Given the description of an element on the screen output the (x, y) to click on. 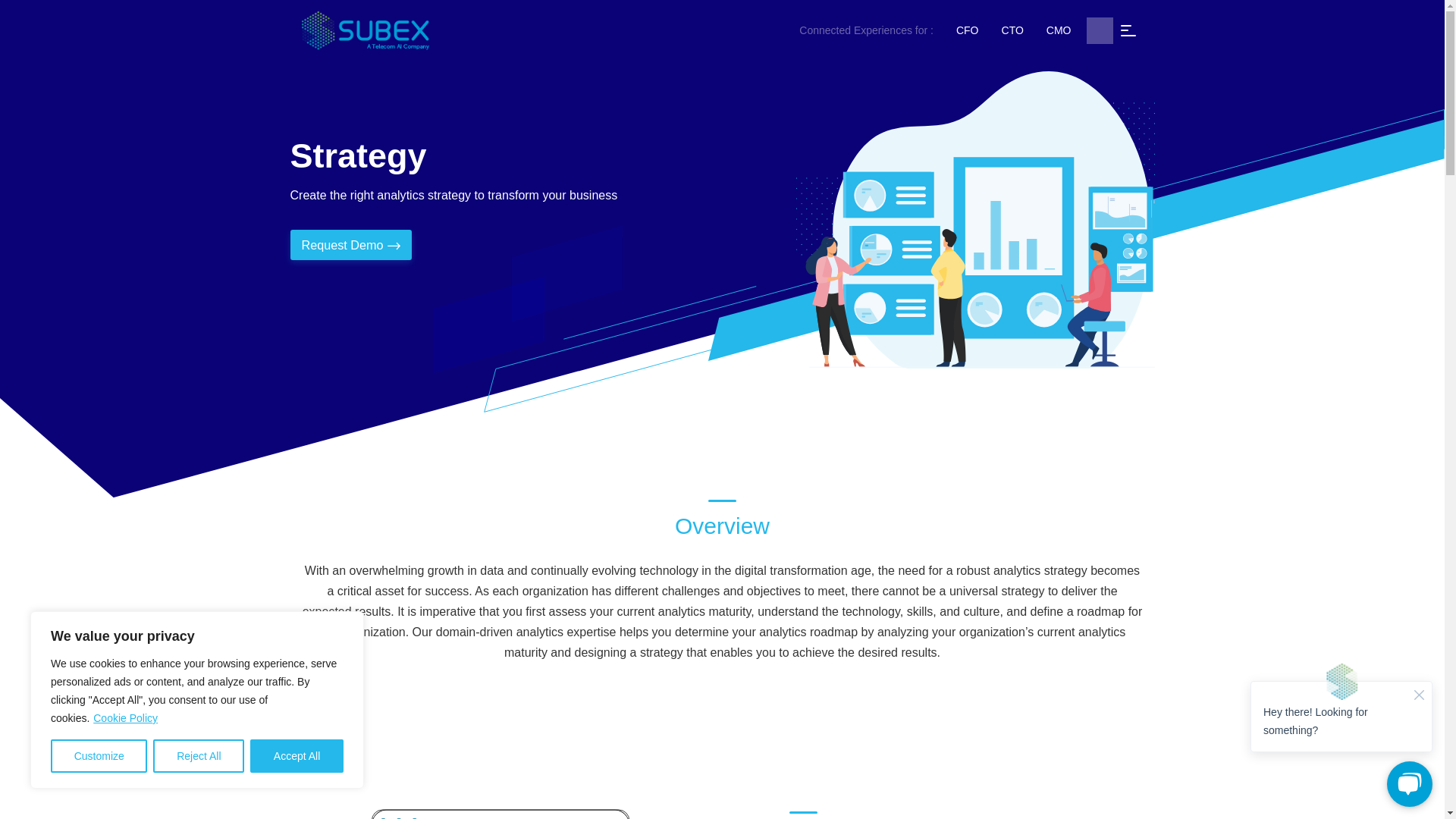
CFO (967, 30)
Customize (98, 756)
Request Demo (350, 244)
Cookie Policy (125, 717)
Accept All (296, 756)
CMO (1058, 30)
Rechercher (1099, 30)
Rechercher (1099, 30)
CTO (1012, 30)
Reject All (198, 756)
